Given the description of an element on the screen output the (x, y) to click on. 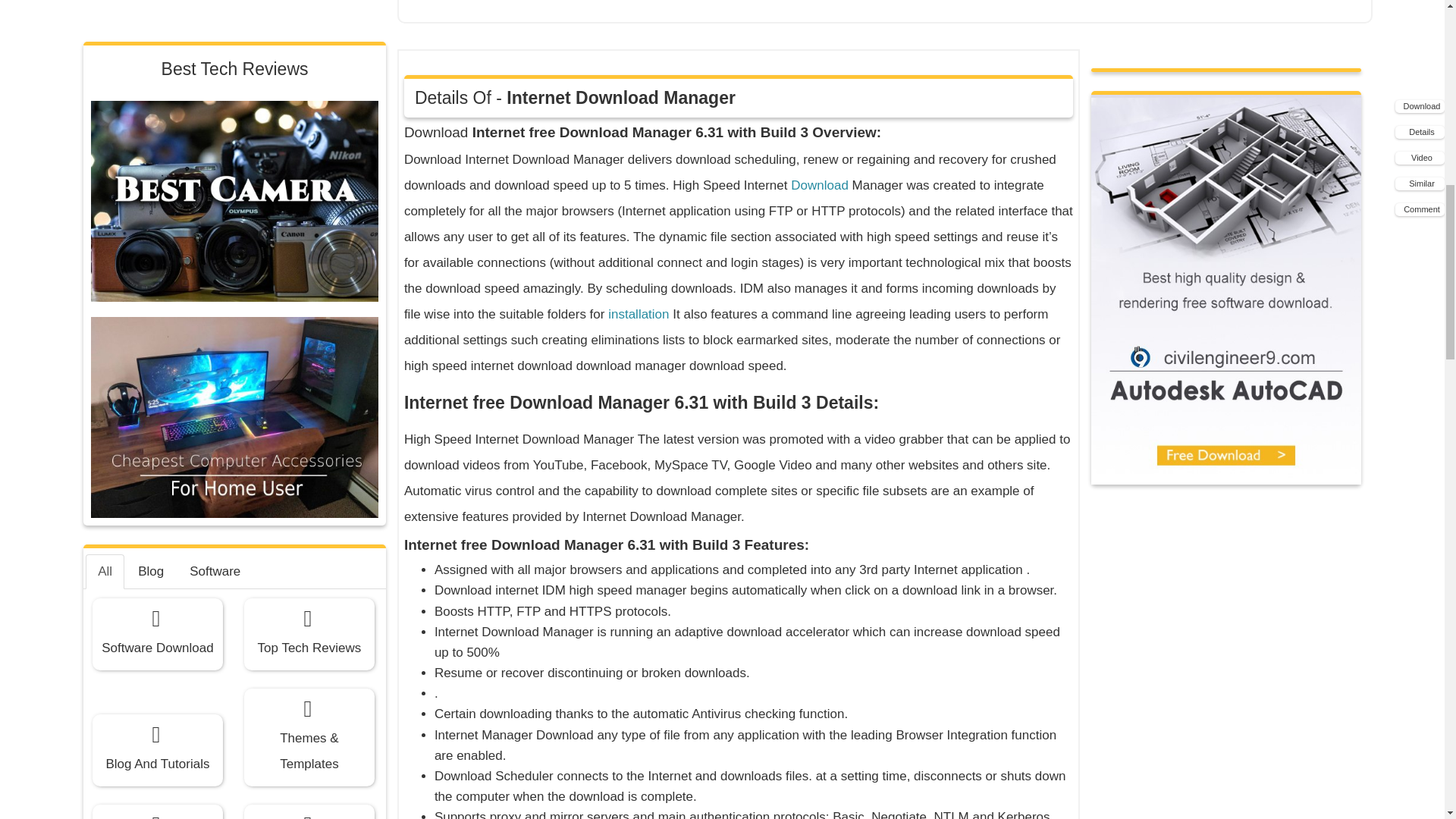
Blog (150, 64)
All (104, 64)
Top Tech Reviews (309, 127)
Advertisement (872, 7)
Free Learn SoftGudam (309, 346)
Software Download (157, 127)
Business Promotion (157, 346)
Software (214, 64)
Blog And Tutorials (157, 244)
